Given the description of an element on the screen output the (x, y) to click on. 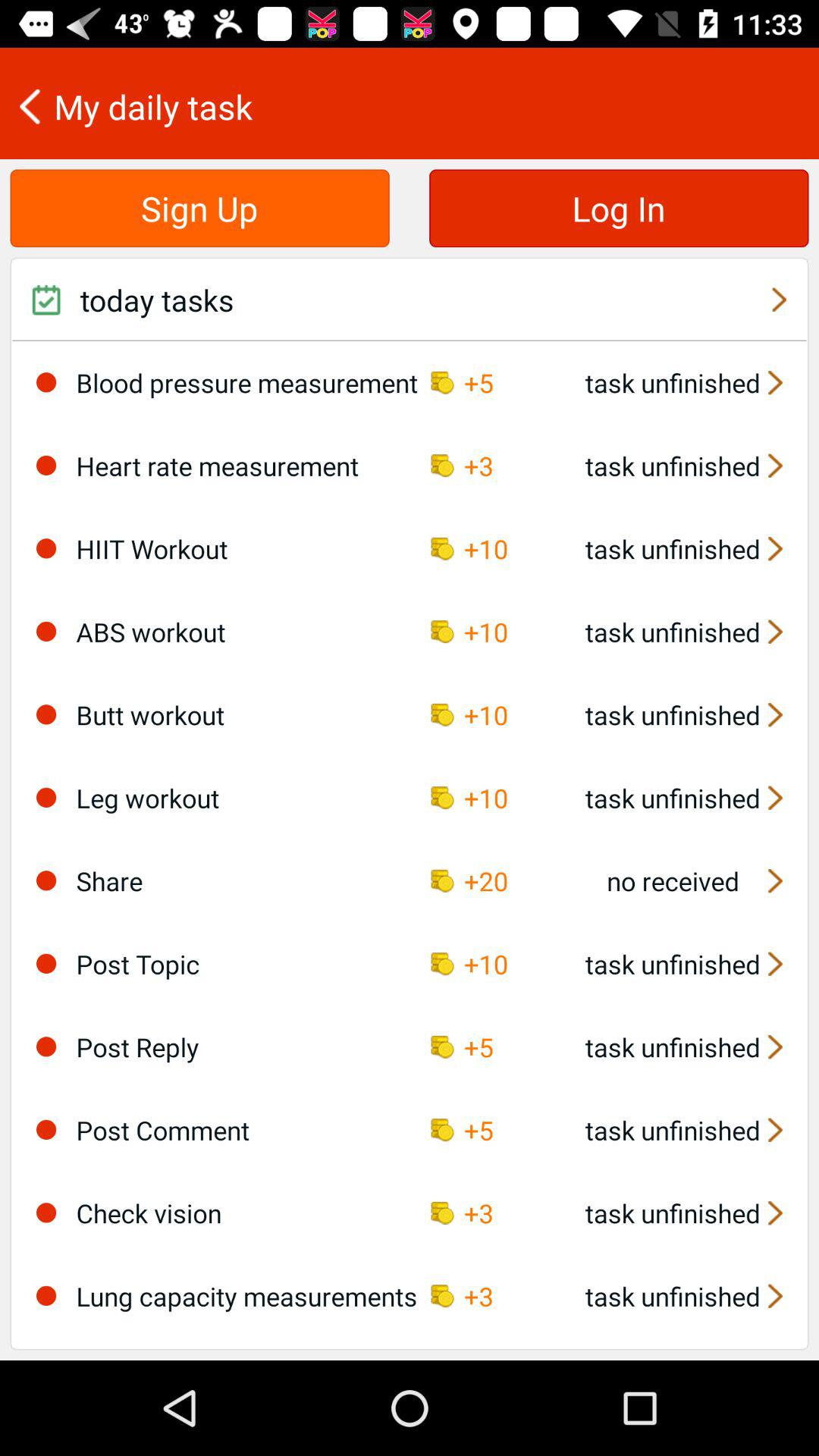
list dot marker (46, 714)
